Given the description of an element on the screen output the (x, y) to click on. 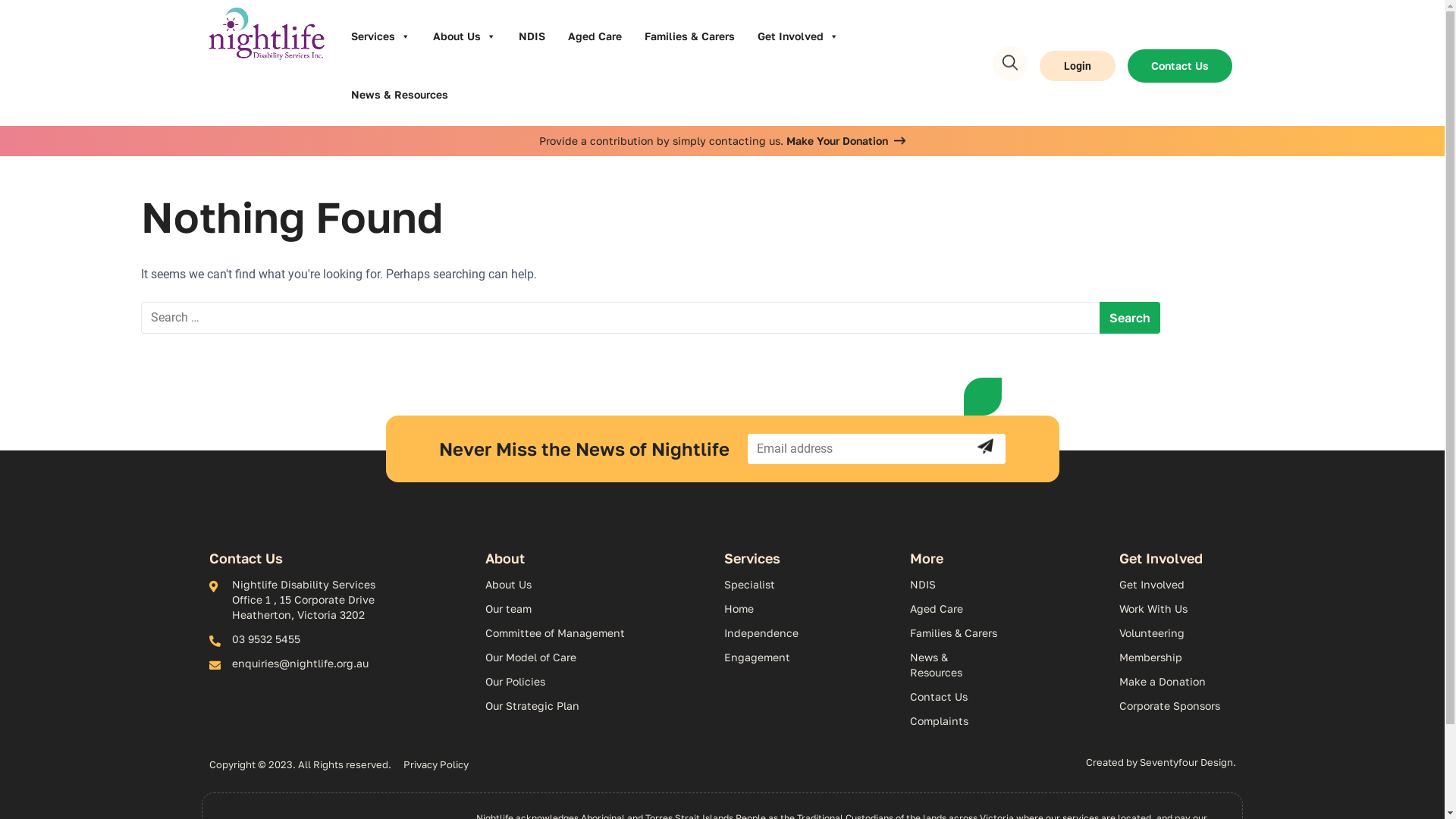
Contact Us Element type: text (954, 696)
Search Element type: text (1129, 317)
Get Involved Element type: text (1177, 584)
03 9532 5455 Element type: text (305, 638)
Our Policies Element type: text (597, 681)
Make Your Donation Element type: text (843, 140)
Membership Element type: text (1177, 657)
Corporate Sponsors Element type: text (1177, 705)
Volunteering Element type: text (1177, 632)
Our Strategic Plan Element type: text (597, 705)
Specialist Element type: text (809, 584)
Rectangle 2@2x Element type: hover (982, 396)
Privacy Policy Element type: text (435, 764)
Make a Donation Element type: text (1177, 681)
Work With Us Element type: text (1177, 608)
News & Resources Element type: text (399, 94)
Aged Care Element type: text (594, 36)
Our Model of Care Element type: text (597, 657)
News & Resources Element type: text (954, 664)
Contact Us Element type: text (1179, 65)
Engagement Element type: text (809, 657)
Aged Care Element type: text (954, 608)
NDIS Element type: text (954, 584)
About Us Element type: text (597, 584)
Families & Carers Element type: text (954, 632)
Complaints Element type: text (954, 720)
Independence Element type: text (809, 632)
Our team Element type: text (597, 608)
Search Element type: hover (1005, 65)
Home Element type: text (809, 608)
Seventyfour Design Element type: text (1185, 762)
About Us Element type: text (464, 36)
Get Involved Element type: text (797, 36)
Services Element type: text (380, 36)
Login Element type: text (1077, 65)
Committee of Management Element type: text (597, 632)
Families & Carers Element type: text (689, 36)
NDIS Element type: text (531, 36)
enquiries@nightlife.org.au Element type: text (305, 663)
